Given the description of an element on the screen output the (x, y) to click on. 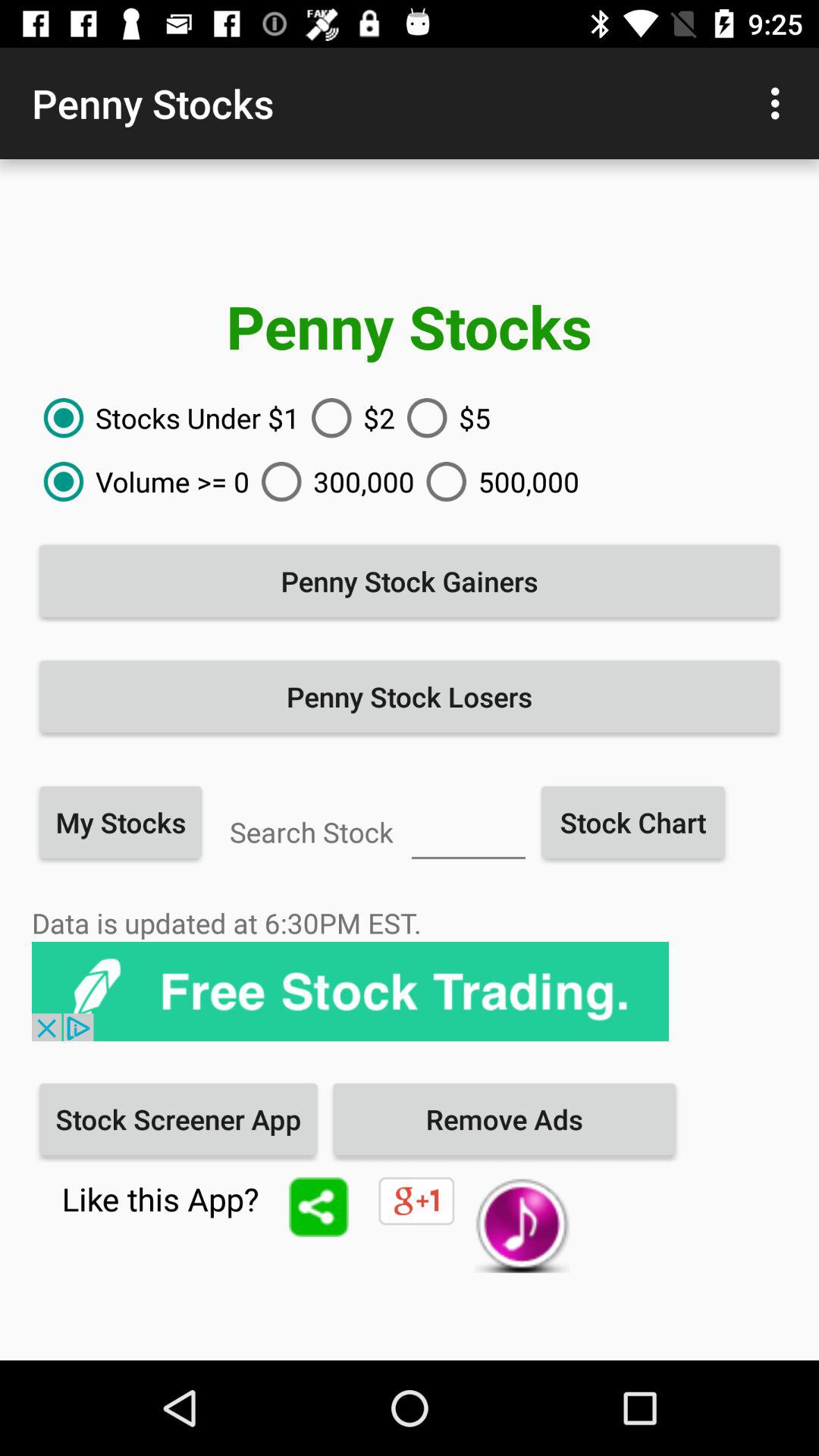
tap the item above data is updated icon (120, 822)
